Given the description of an element on the screen output the (x, y) to click on. 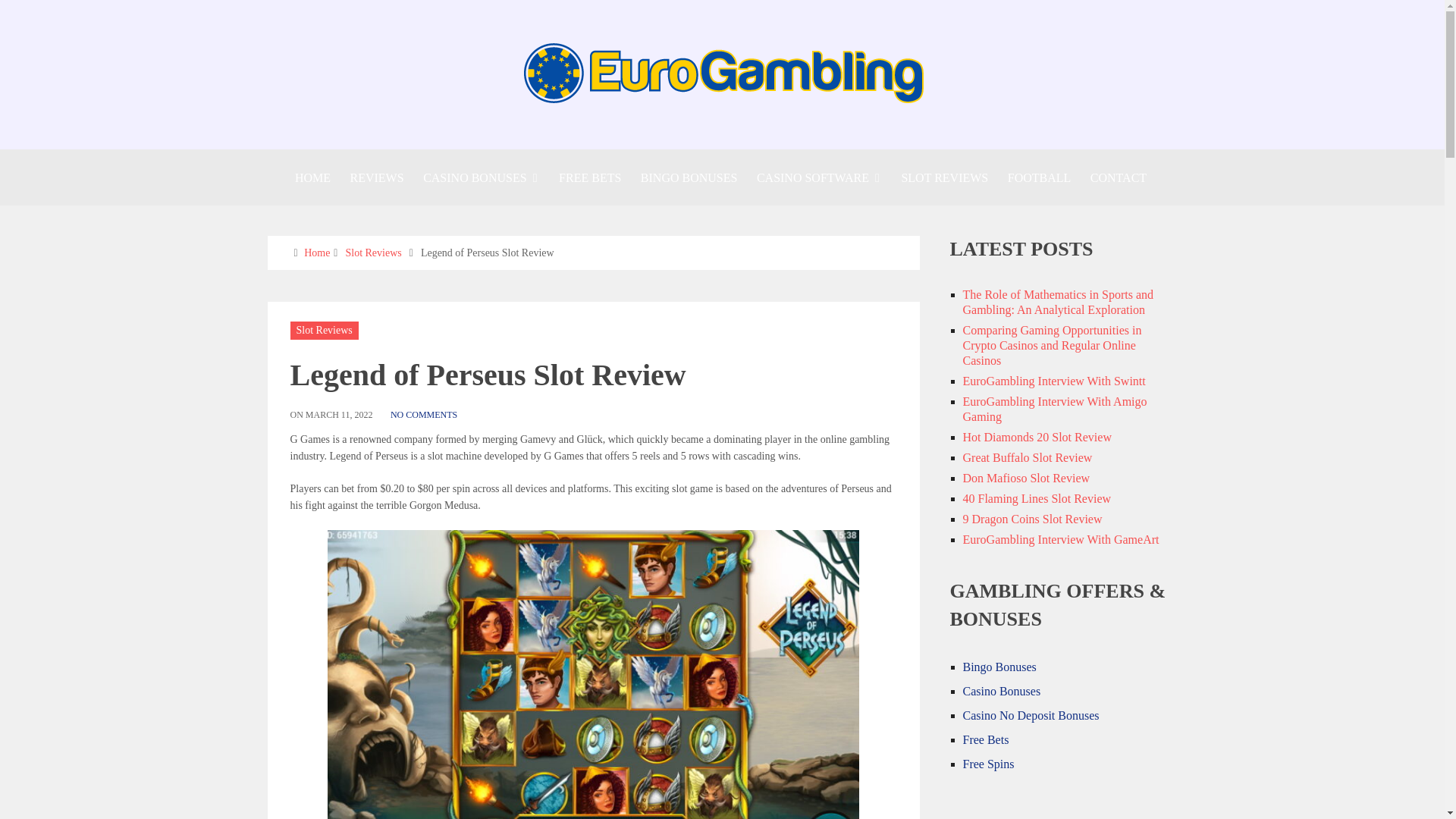
EuroGambling Interview With GameArt (1060, 539)
CONTACT (1118, 177)
FREE BETS (589, 177)
Slot Reviews (373, 252)
FOOTBALL (1039, 177)
CASINO BONUSES (480, 177)
EuroGambling Interview With Swintt (1053, 380)
BINGO BONUSES (689, 177)
Slot Reviews (323, 329)
40 Flaming Lines Slot Review (1037, 498)
